Given the description of an element on the screen output the (x, y) to click on. 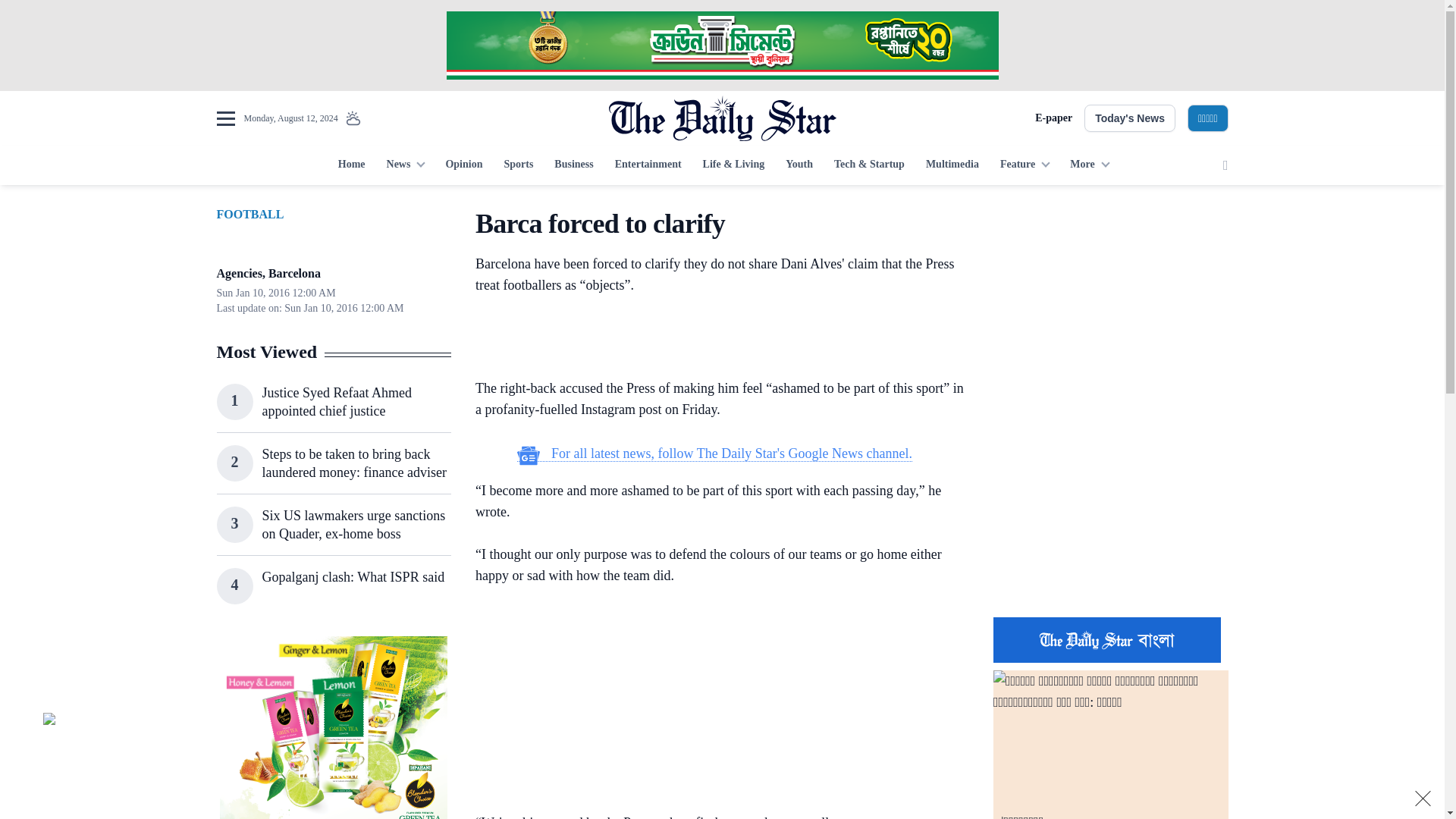
Opinion (463, 165)
Today's News (1129, 117)
3rd party ad content (1110, 506)
3rd party ad content (332, 727)
Home (351, 165)
E-paper (1053, 117)
Entertainment (647, 165)
3rd party ad content (713, 701)
3rd party ad content (721, 45)
3rd party ad content (1110, 302)
